Given the description of an element on the screen output the (x, y) to click on. 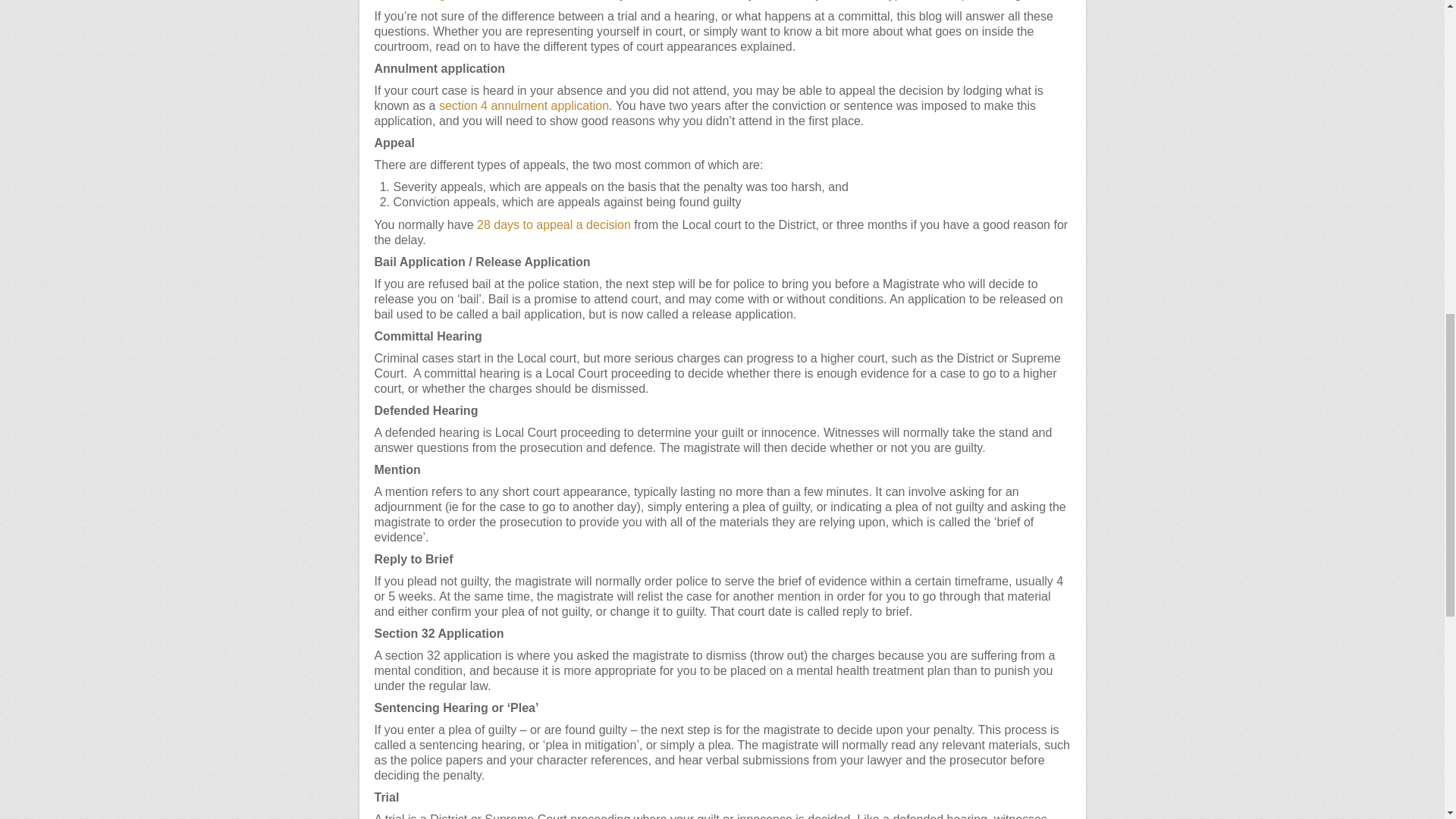
section 4 annulment application (523, 105)
28 days to appeal a decision (553, 224)
